Given the description of an element on the screen output the (x, y) to click on. 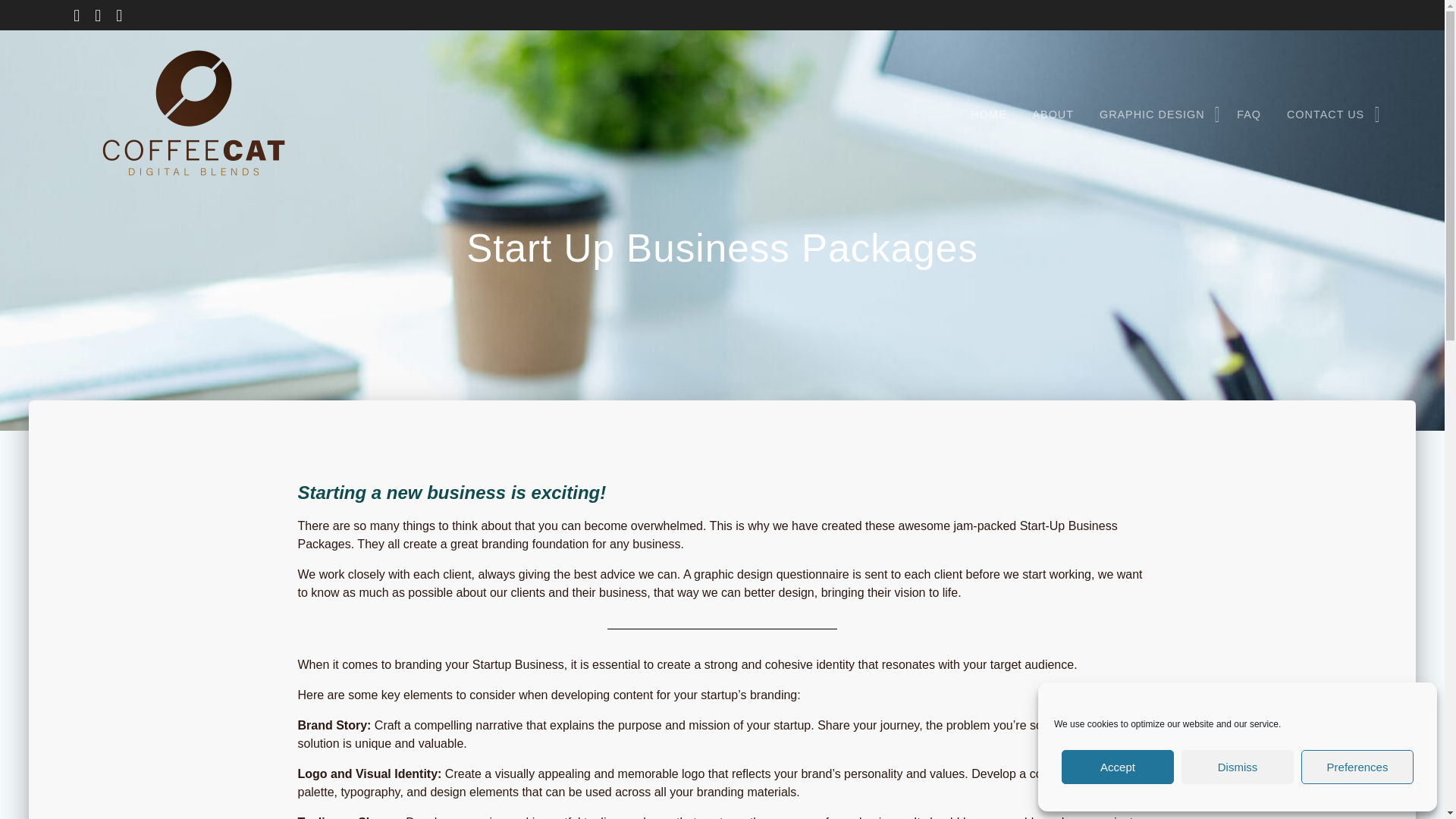
HOME (988, 115)
FAQ (1249, 115)
Dismiss (1237, 766)
GRAPHIC DESIGN (1155, 115)
Accept (1117, 766)
Preferences (1357, 766)
CONTACT US (1328, 115)
ABOUT (1052, 115)
